Given the description of an element on the screen output the (x, y) to click on. 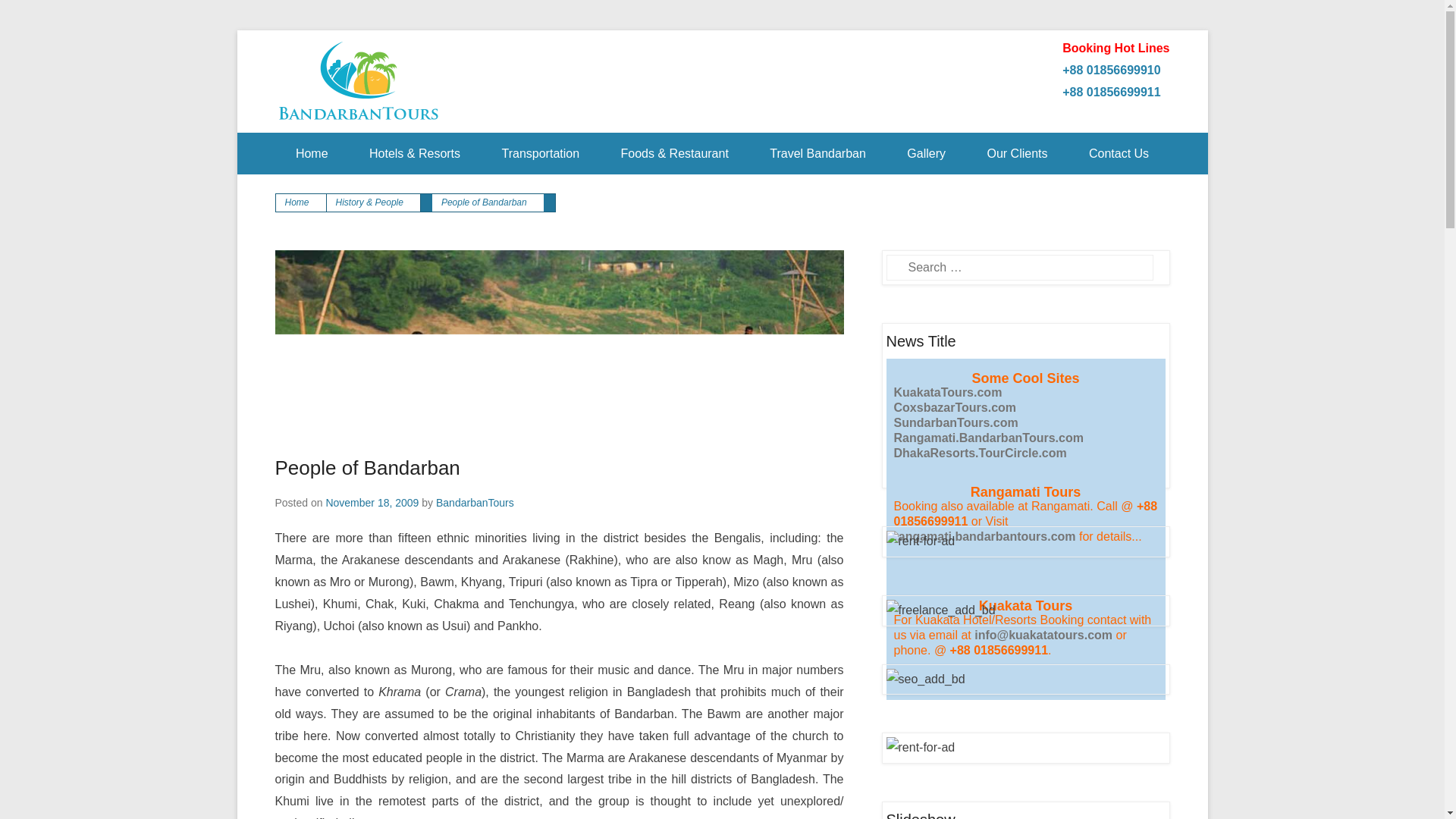
Home (311, 153)
Go to Home. (301, 202)
View all posts by BandarbanTours (474, 502)
Permalink to People of Bandarban (367, 467)
Go to People of Bandarban. (487, 202)
12:21 pm (371, 502)
Permalink to People of Bandarban (559, 338)
